Given the description of an element on the screen output the (x, y) to click on. 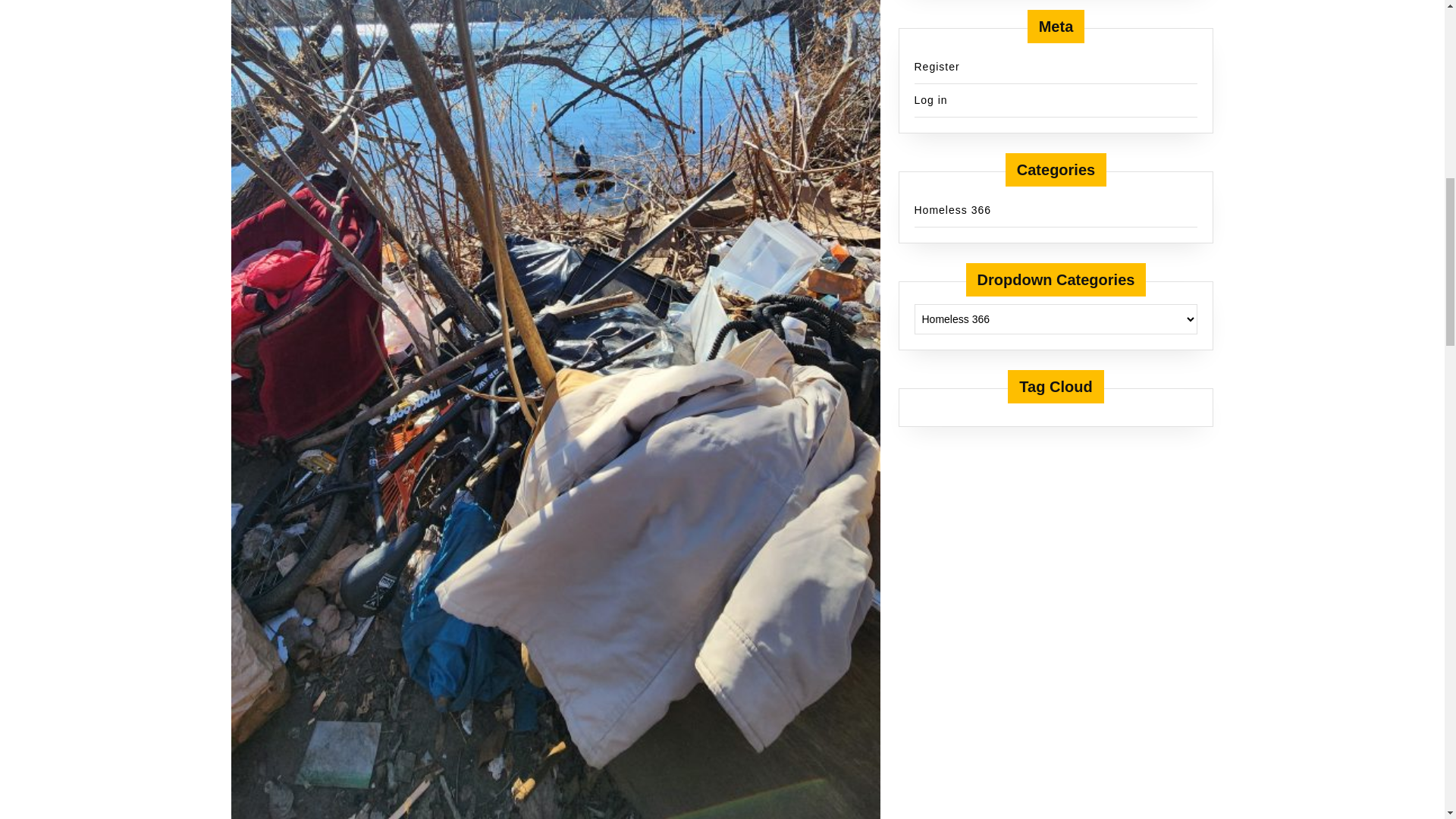
Register (936, 66)
Log in (930, 100)
Homeless 366 (952, 209)
